Given the description of an element on the screen output the (x, y) to click on. 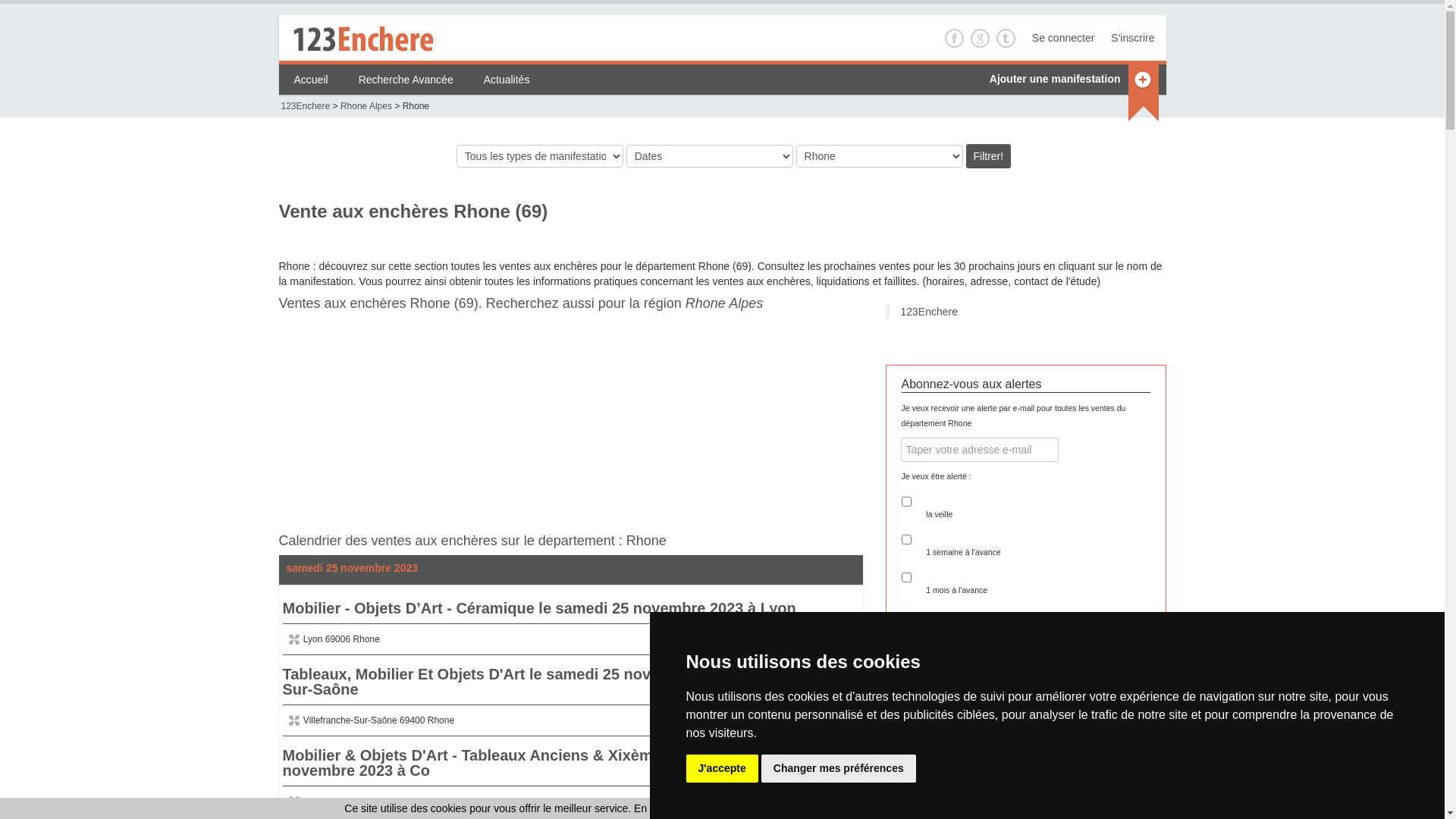
S'inscrire Element type: text (1127, 37)
Accueil Element type: text (311, 79)
Se connecter Element type: text (1058, 37)
g Element type: text (979, 37)
Advertisement Element type: hover (392, 427)
S'inscrire ! Element type: text (1025, 628)
Rhone Alpes Element type: text (366, 105)
Rhone Alpes Element type: text (723, 302)
En savoir plus Element type: text (1009, 808)
123Enchere Element type: text (304, 105)
Home Element type: hover (362, 37)
T Element type: text (1005, 37)
Filtrer! Element type: text (988, 156)
F Element type: text (953, 37)
123Enchere Element type: text (929, 311)
J'accepte Element type: text (721, 768)
Ajouter une manifestation Element type: text (1054, 78)
